Given the description of an element on the screen output the (x, y) to click on. 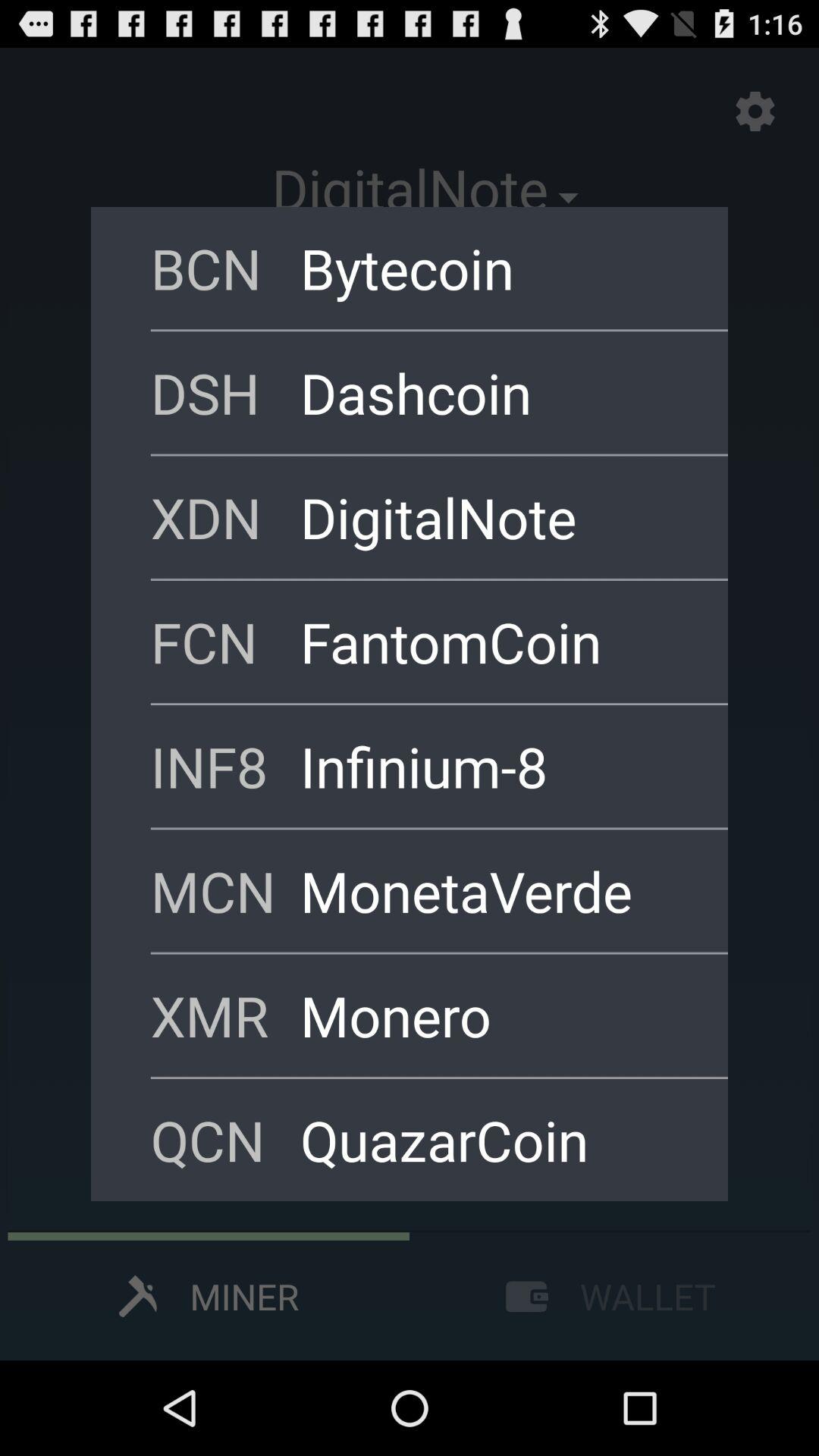
scroll until the digitalnote icon (494, 517)
